Given the description of an element on the screen output the (x, y) to click on. 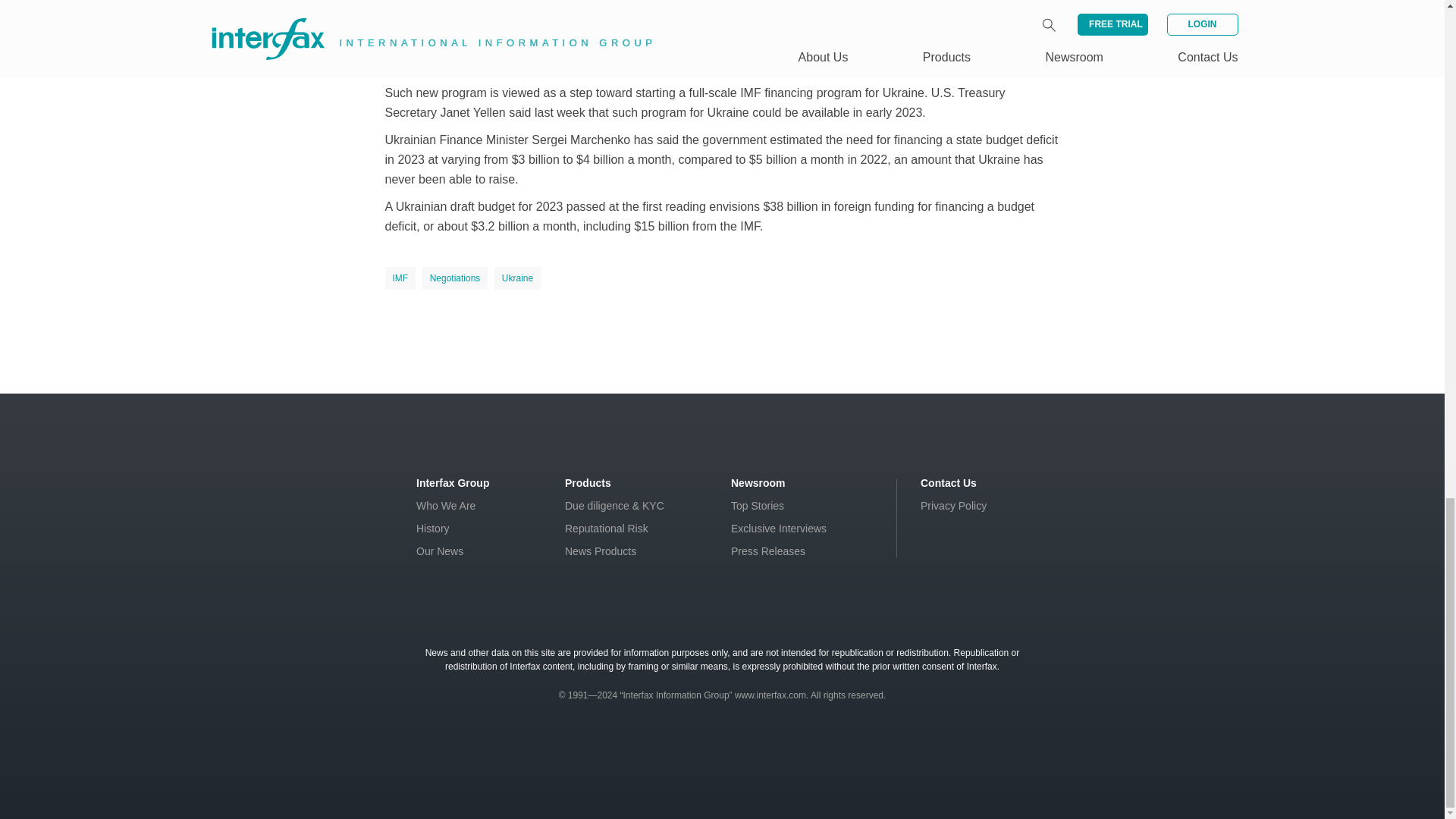
IMF (400, 277)
Ukraine (517, 277)
Interfax Group (452, 482)
Negotiations (454, 277)
